Given the description of an element on the screen output the (x, y) to click on. 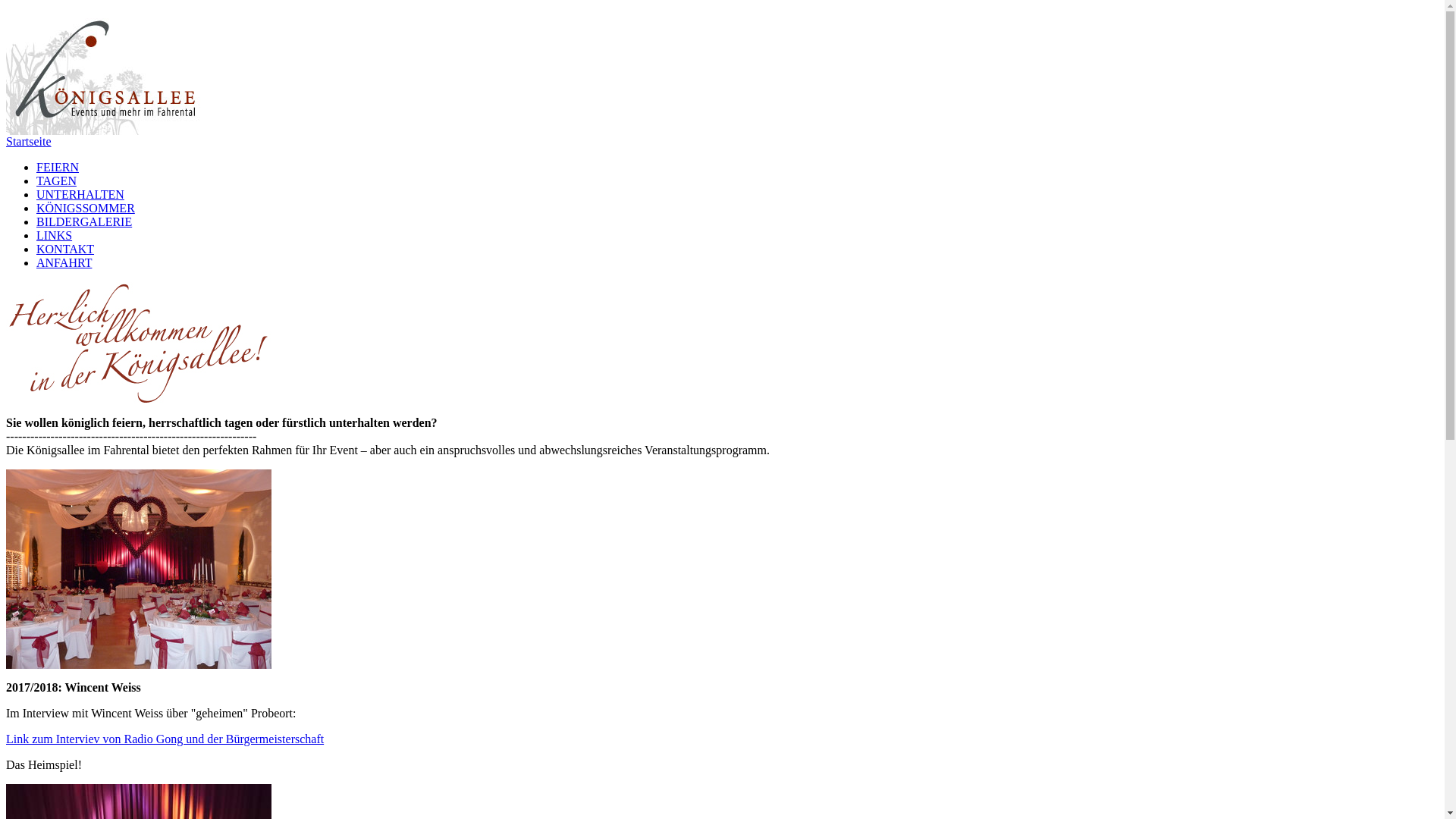
Link zur Startseite Element type: hover (108, 130)
Startseite Element type: text (28, 140)
FEIERN Element type: text (57, 166)
LINKS Element type: text (54, 235)
UNTERHALTEN Element type: text (80, 194)
ANFAHRT Element type: text (63, 262)
KONTAKT Element type: text (65, 248)
BILDERGALERIE Element type: text (83, 221)
TAGEN Element type: text (56, 180)
zur Startseite! Element type: hover (108, 70)
